Given the description of an element on the screen output the (x, y) to click on. 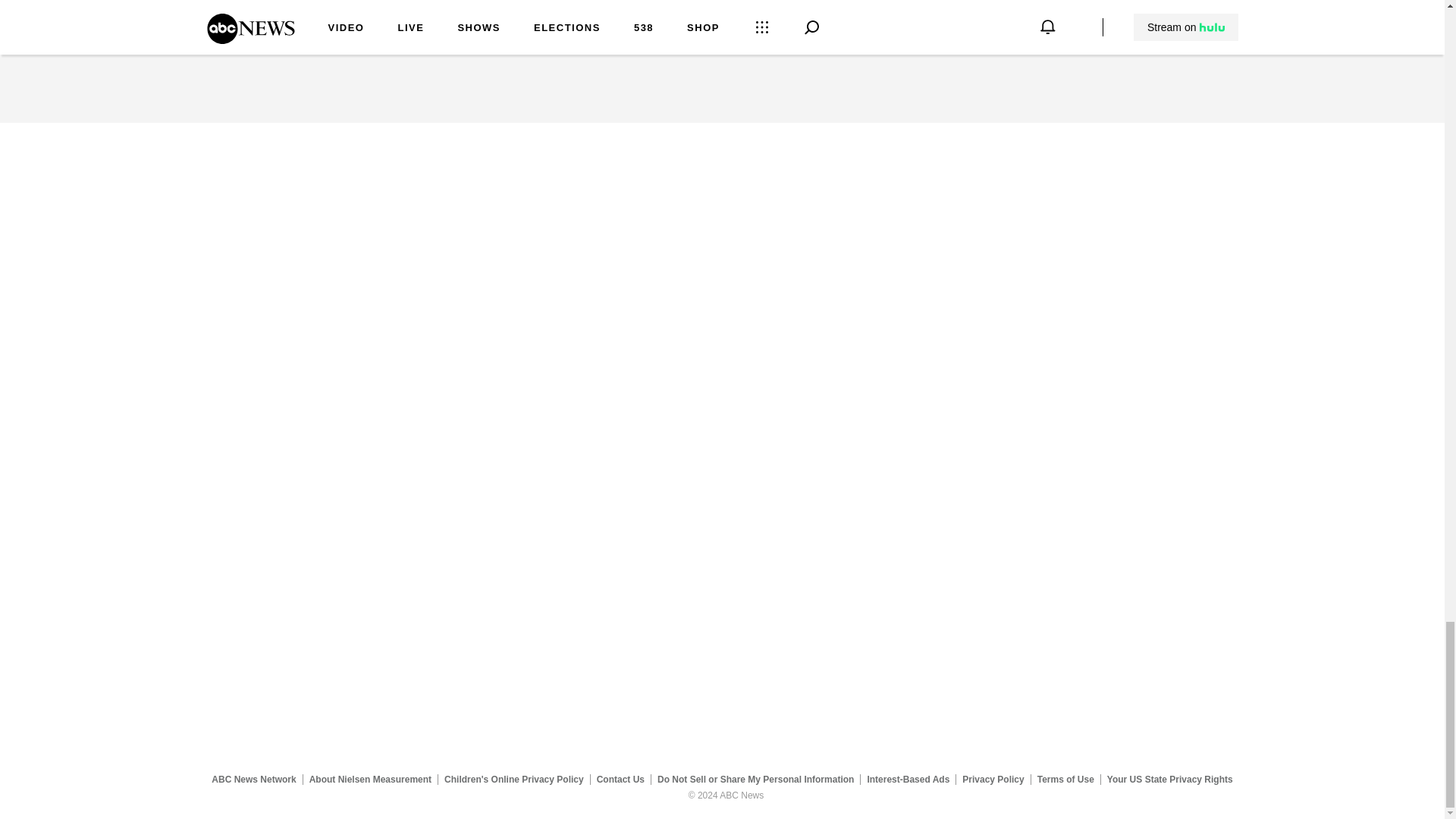
Privacy Policy (993, 778)
ABC News Network (253, 778)
Your US State Privacy Rights (1169, 778)
About Nielsen Measurement (370, 778)
Interest-Based Ads (908, 778)
Do Not Sell or Share My Personal Information (755, 778)
Terms of Use (1065, 778)
Children's Online Privacy Policy (514, 778)
Contact Us (620, 778)
